Given the description of an element on the screen output the (x, y) to click on. 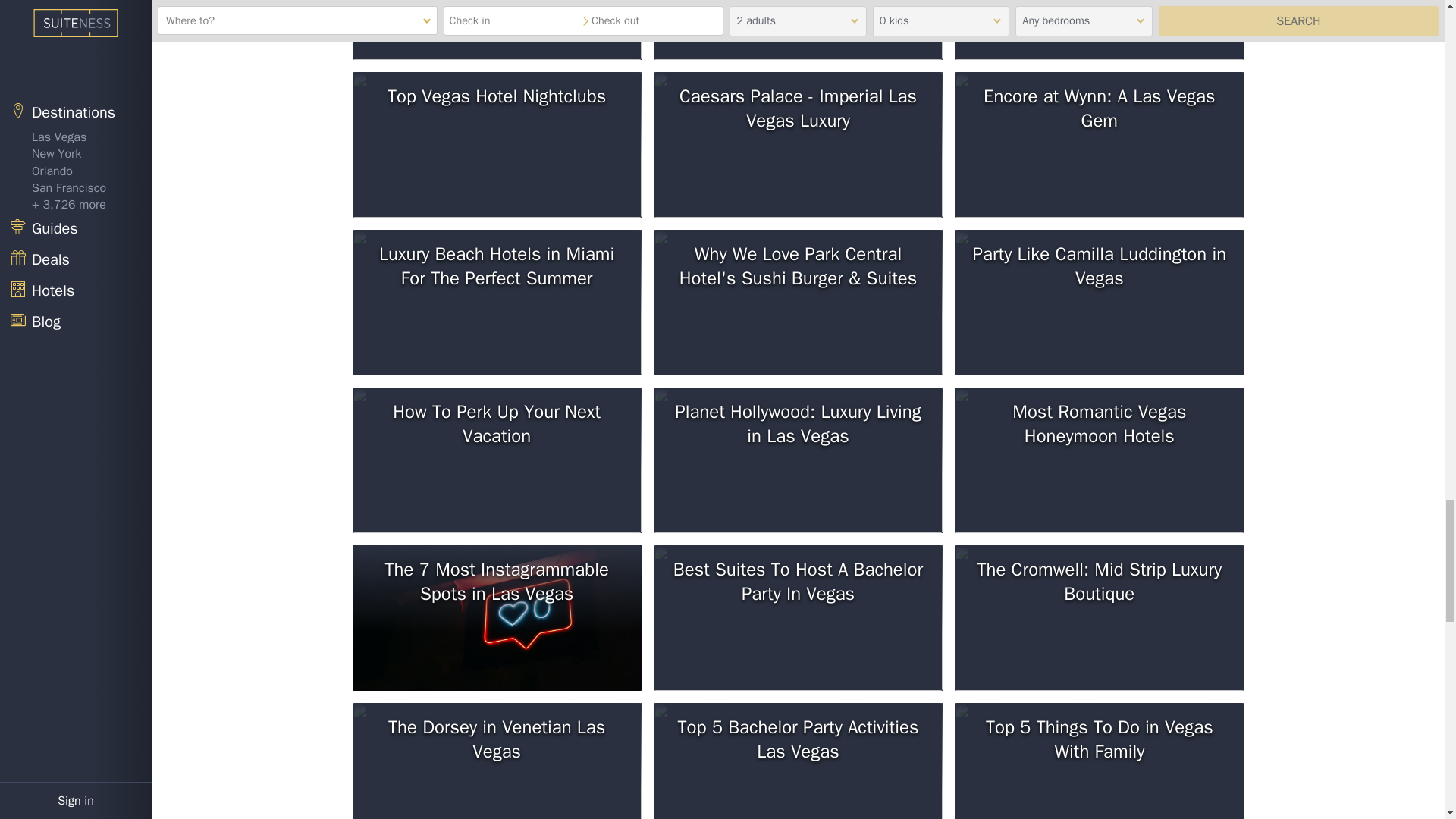
Top Vegas Hotel Nightclubs (496, 144)
Encore at Wynn: A Las Vegas Gem (1099, 144)
Luxury Beach Hotels in Miami For The Perfect Summer (496, 302)
The 7 Most Instagrammable Spots in Las Vegas (496, 618)
The Best Las Vegas Bachelorette Suites (1099, 29)
Caesars Palace - Imperial Las Vegas Luxury (797, 144)
Best Suites To Host A Bachelor Party In Vegas (797, 618)
The Cromwell: Mid Strip Luxury Boutique (1099, 618)
Party Like Camilla Luddington in Vegas (1099, 302)
